Given the description of an element on the screen output the (x, y) to click on. 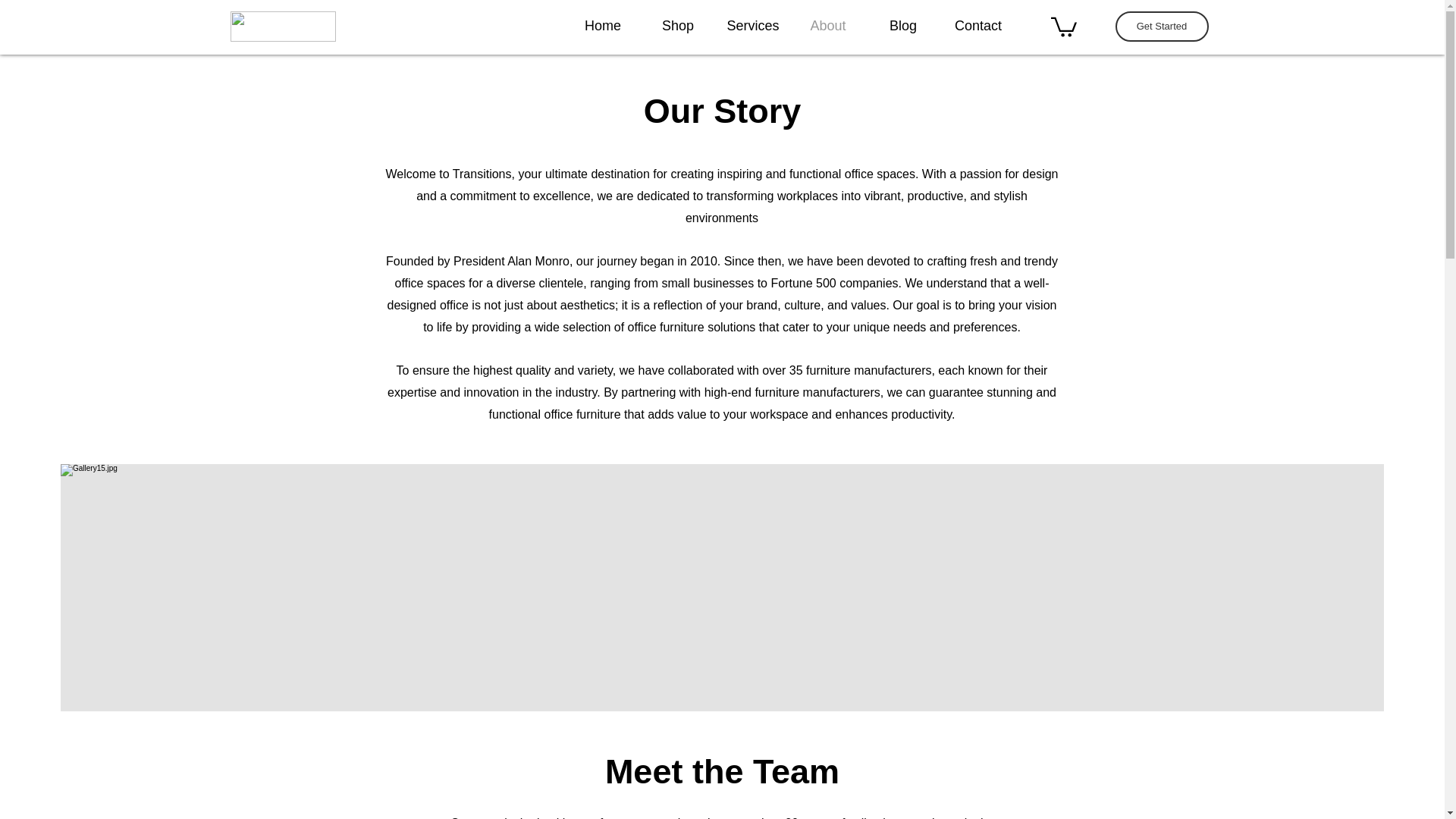
Services (753, 26)
About (827, 26)
Shop (677, 26)
Get Started (1161, 26)
Home (603, 26)
Contact (977, 26)
Blog (903, 26)
